Given the description of an element on the screen output the (x, y) to click on. 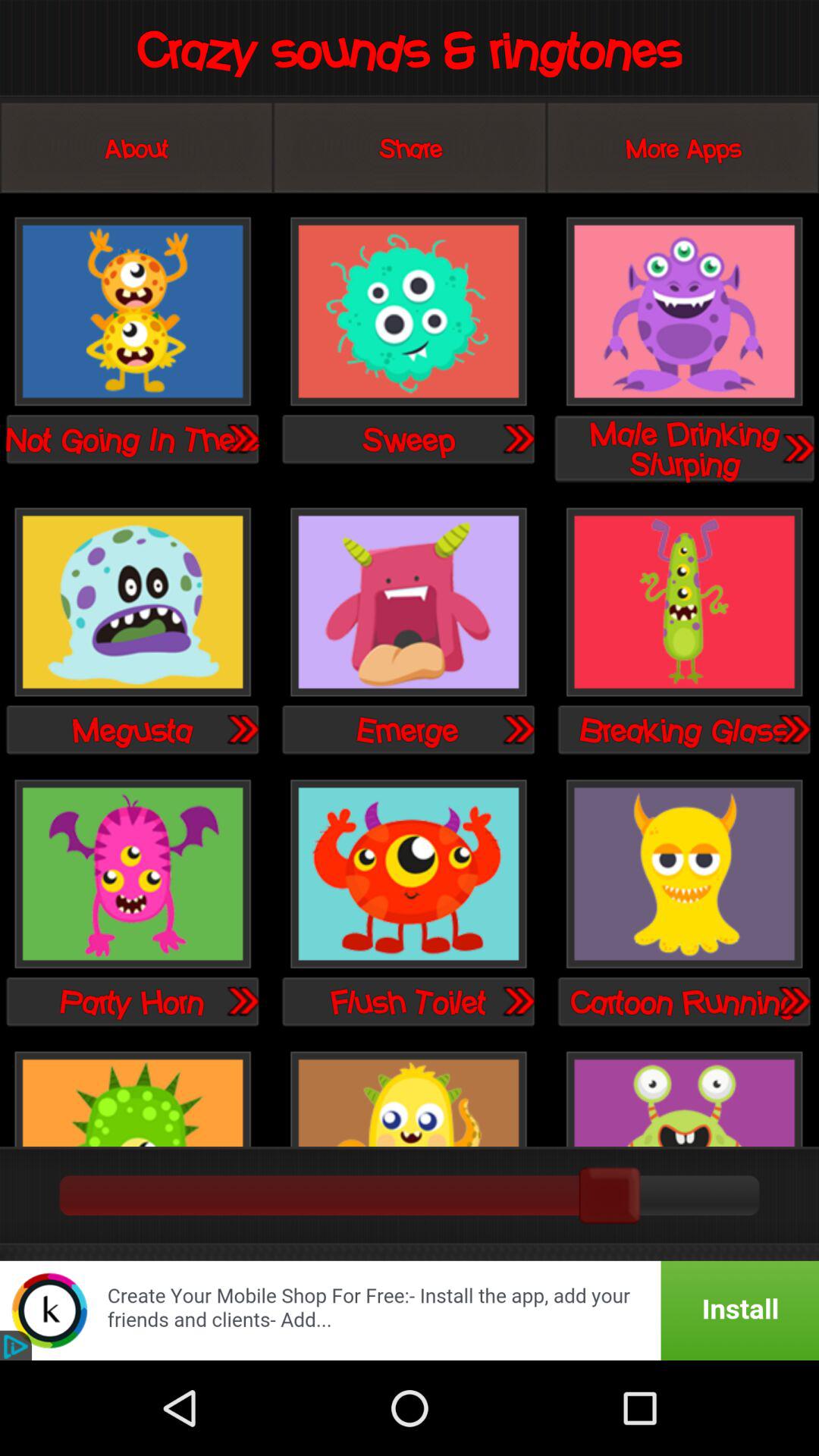
ringtone selection (684, 602)
